Given the description of an element on the screen output the (x, y) to click on. 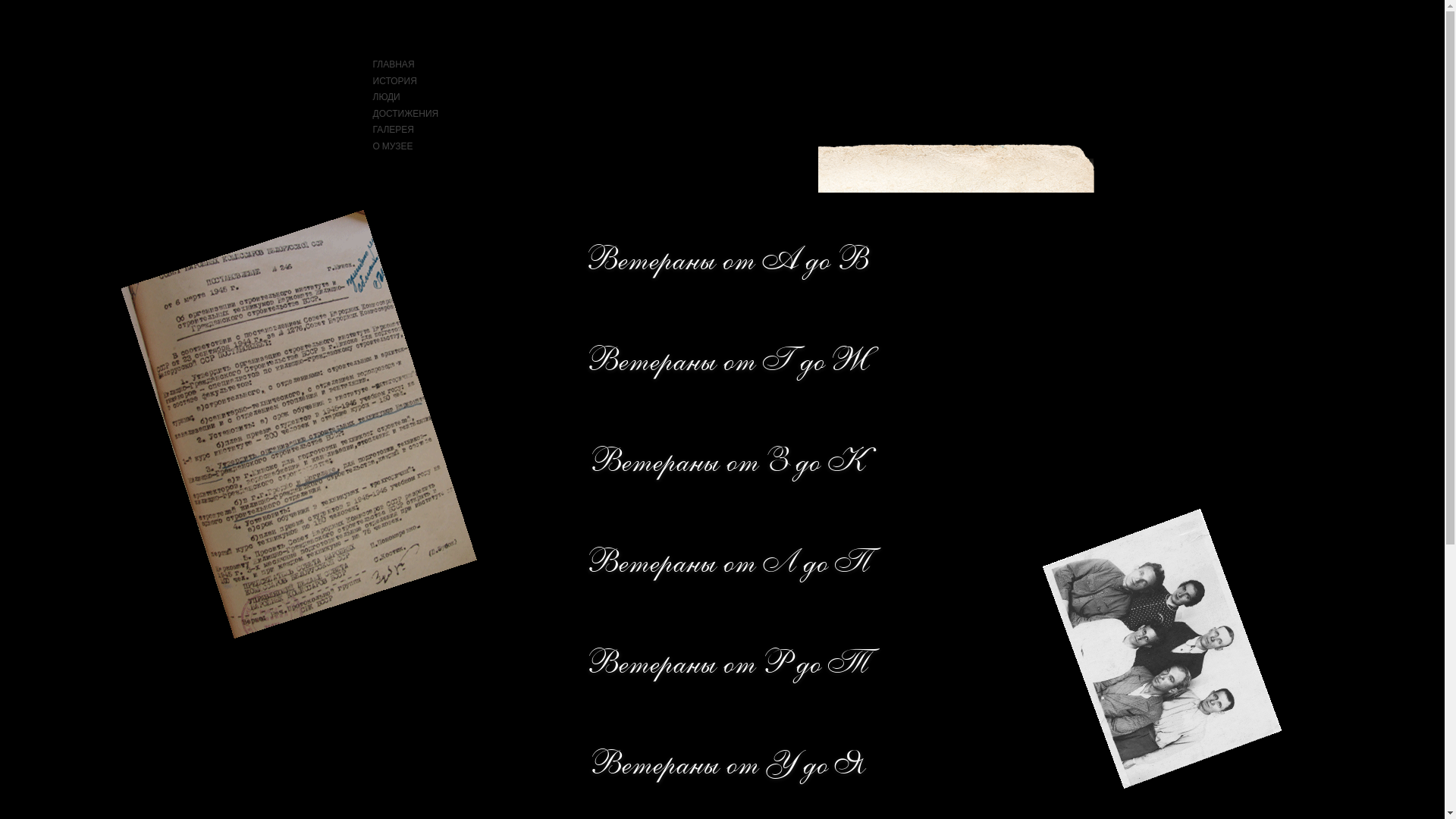
logo Element type: text (275, 195)
